Given the description of an element on the screen output the (x, y) to click on. 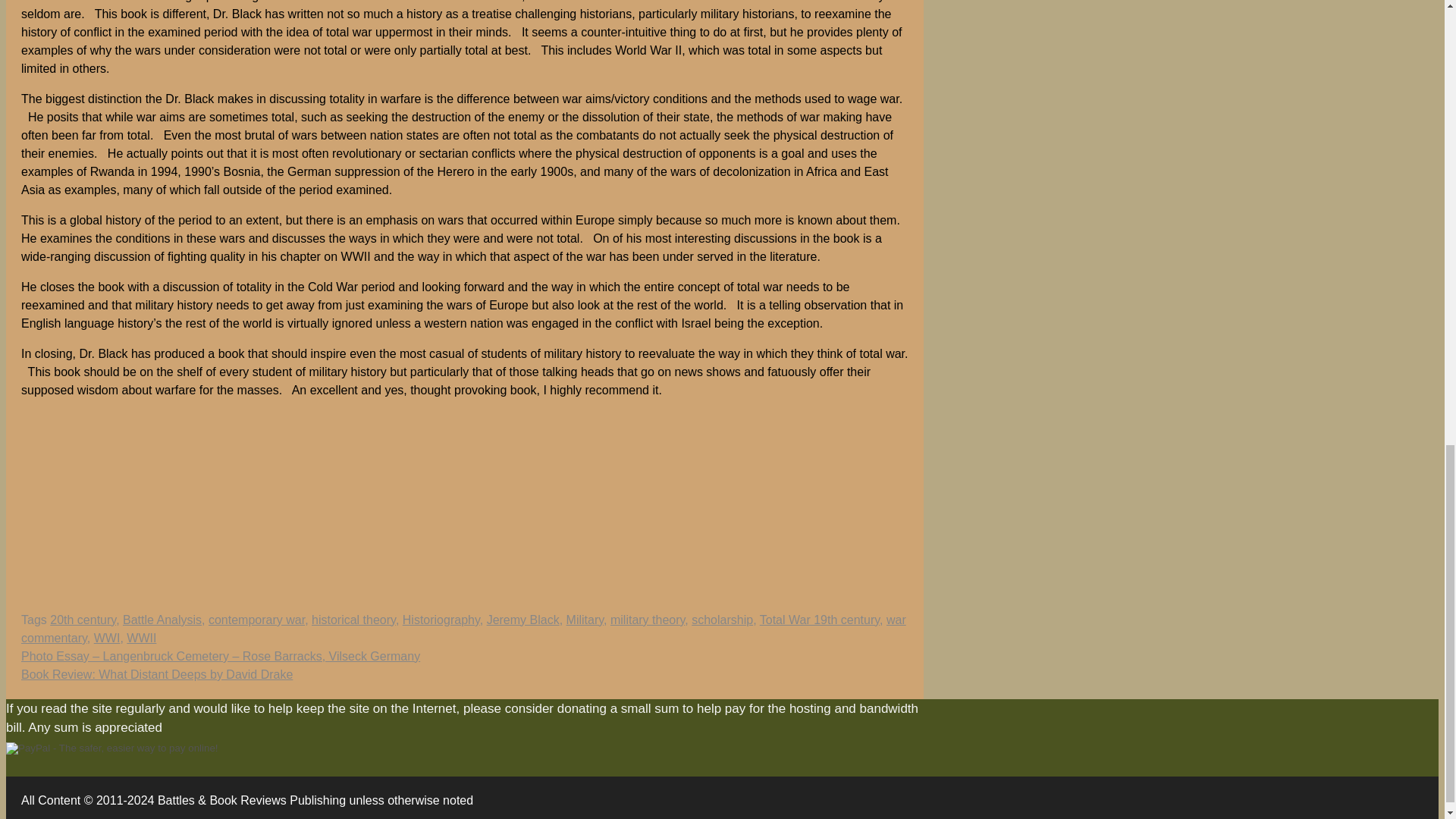
20th century (82, 619)
Battle Analysis (162, 619)
contemporary war (256, 619)
